Given the description of an element on the screen output the (x, y) to click on. 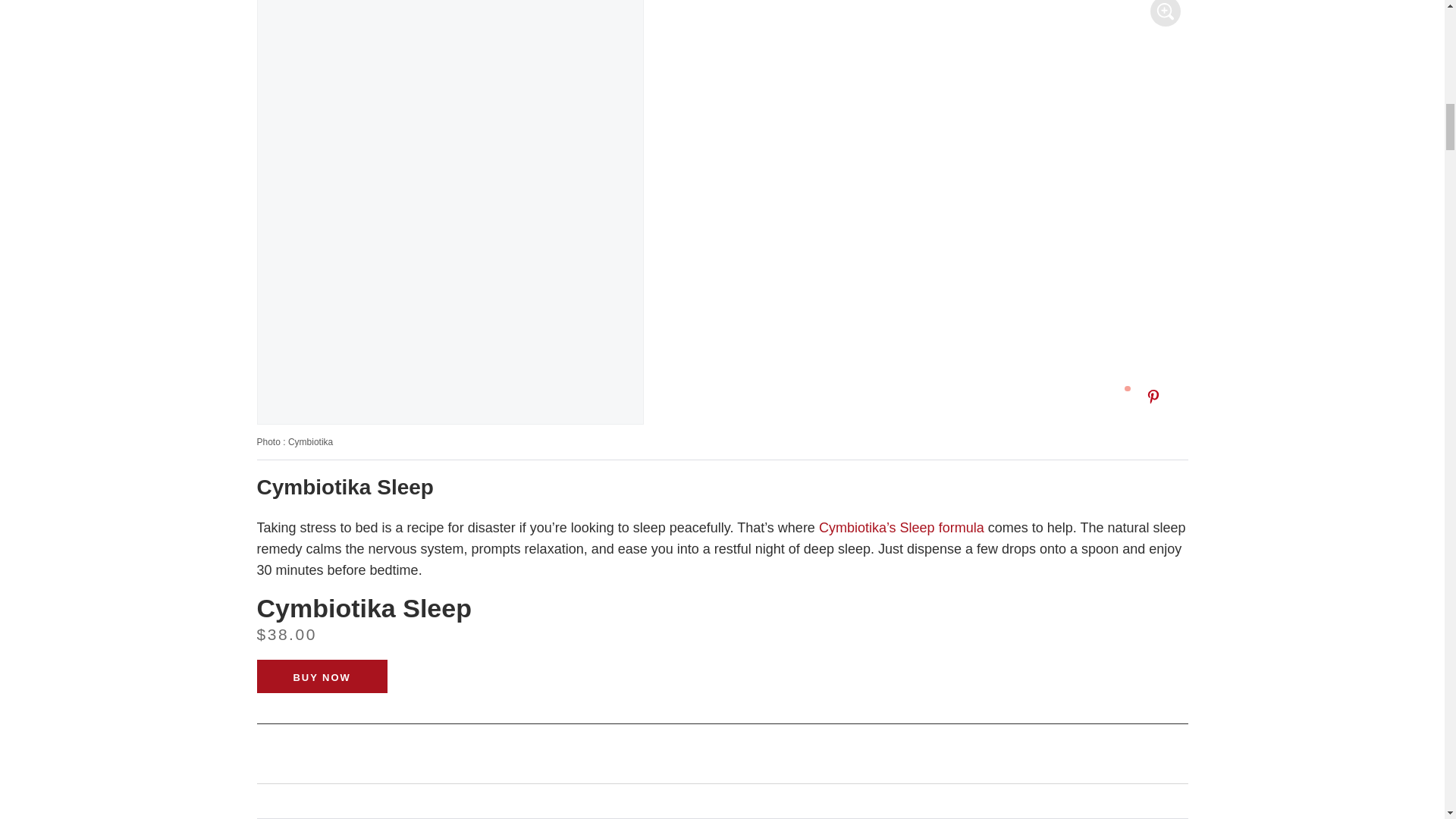
Magnifying Glass Light (1164, 11)
